Given the description of an element on the screen output the (x, y) to click on. 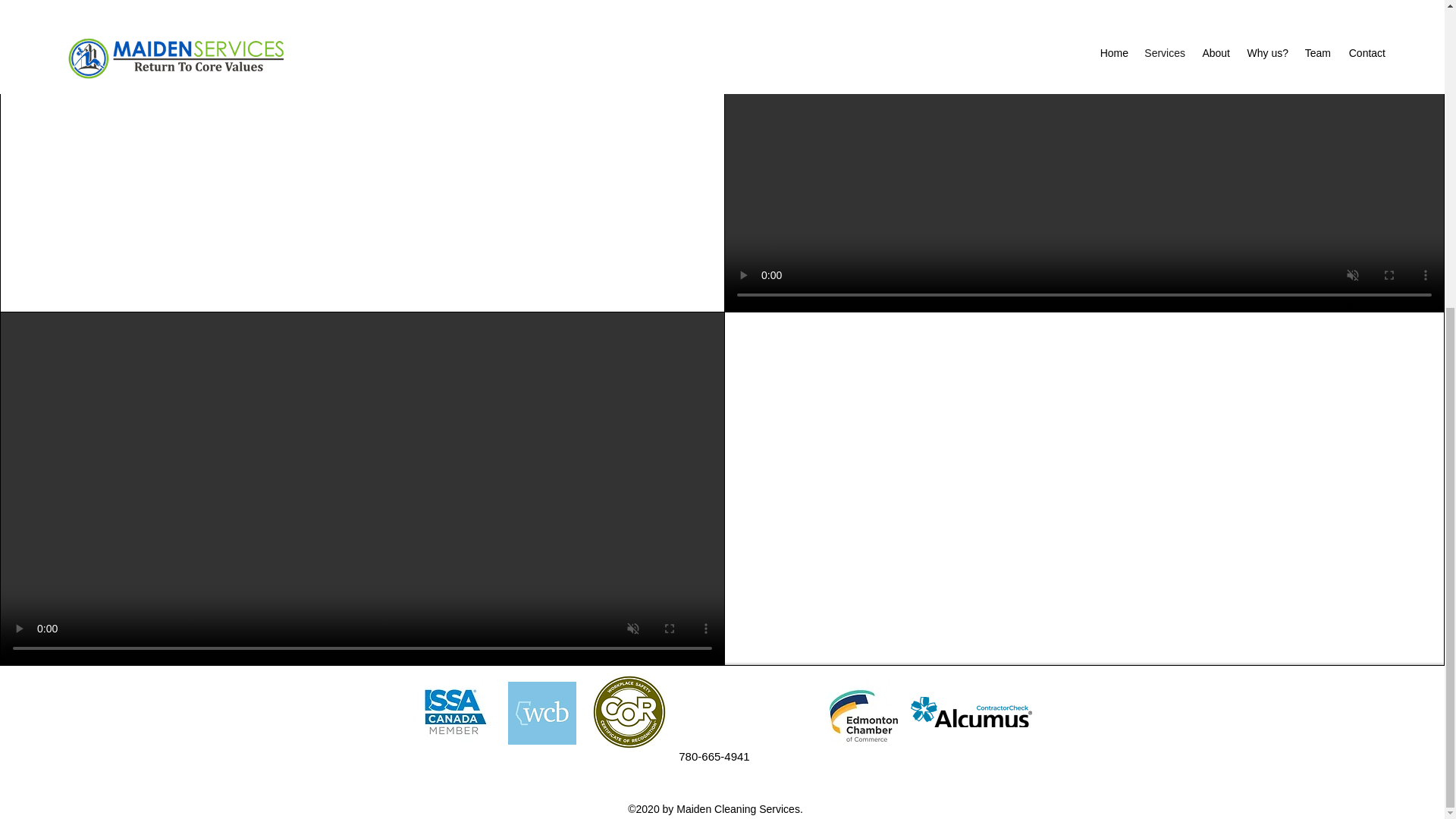
Alcumus-ContractorCheck-logo-RGB.png (970, 711)
